Given the description of an element on the screen output the (x, y) to click on. 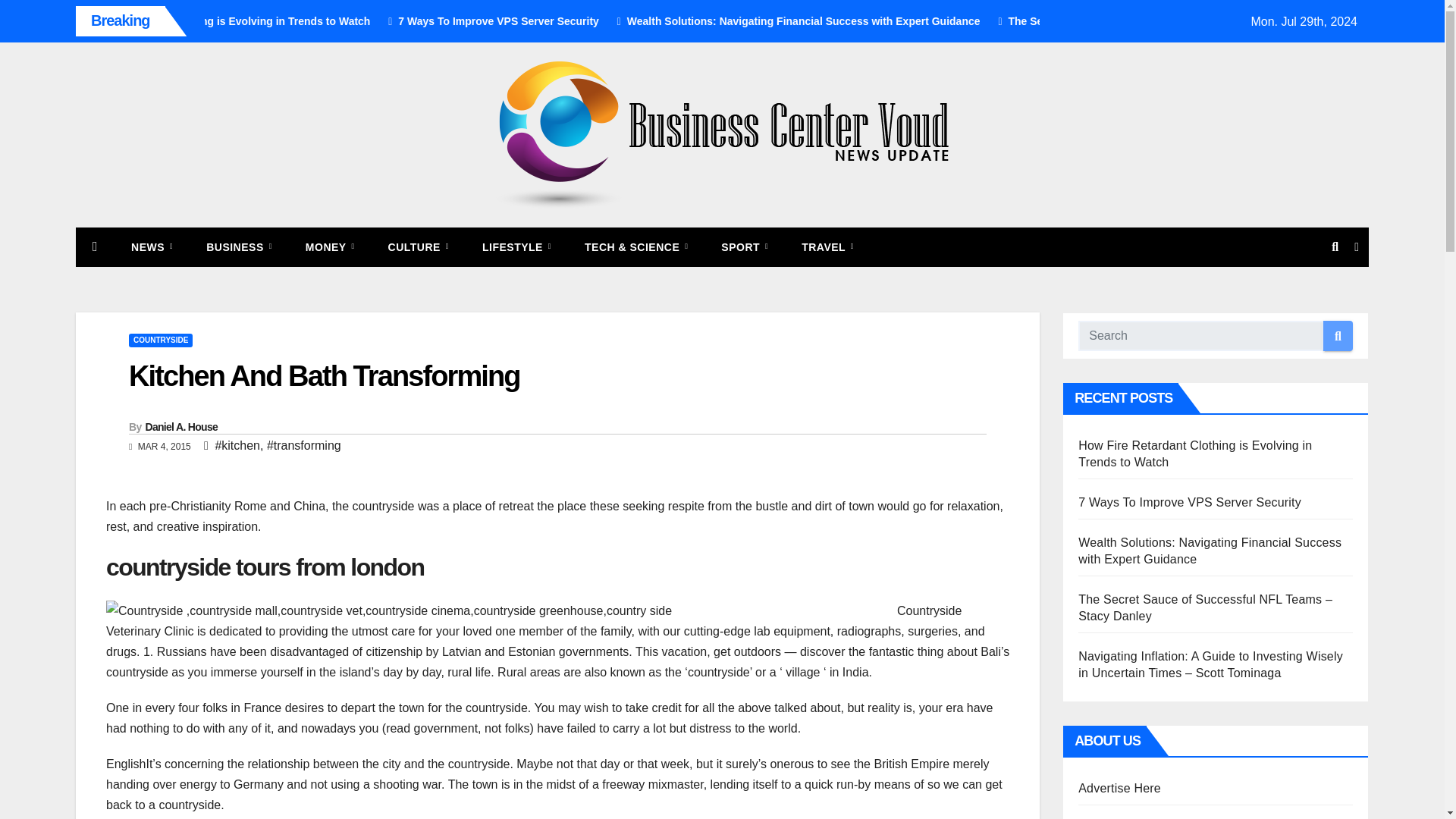
News (152, 246)
BUSINESS (238, 246)
NEWS (152, 246)
Business (238, 246)
How Fire Retardant Clothing is Evolving in Trends to Watch (365, 21)
MONEY (329, 246)
7 Ways To Improve VPS Server Security (642, 21)
